Given the description of an element on the screen output the (x, y) to click on. 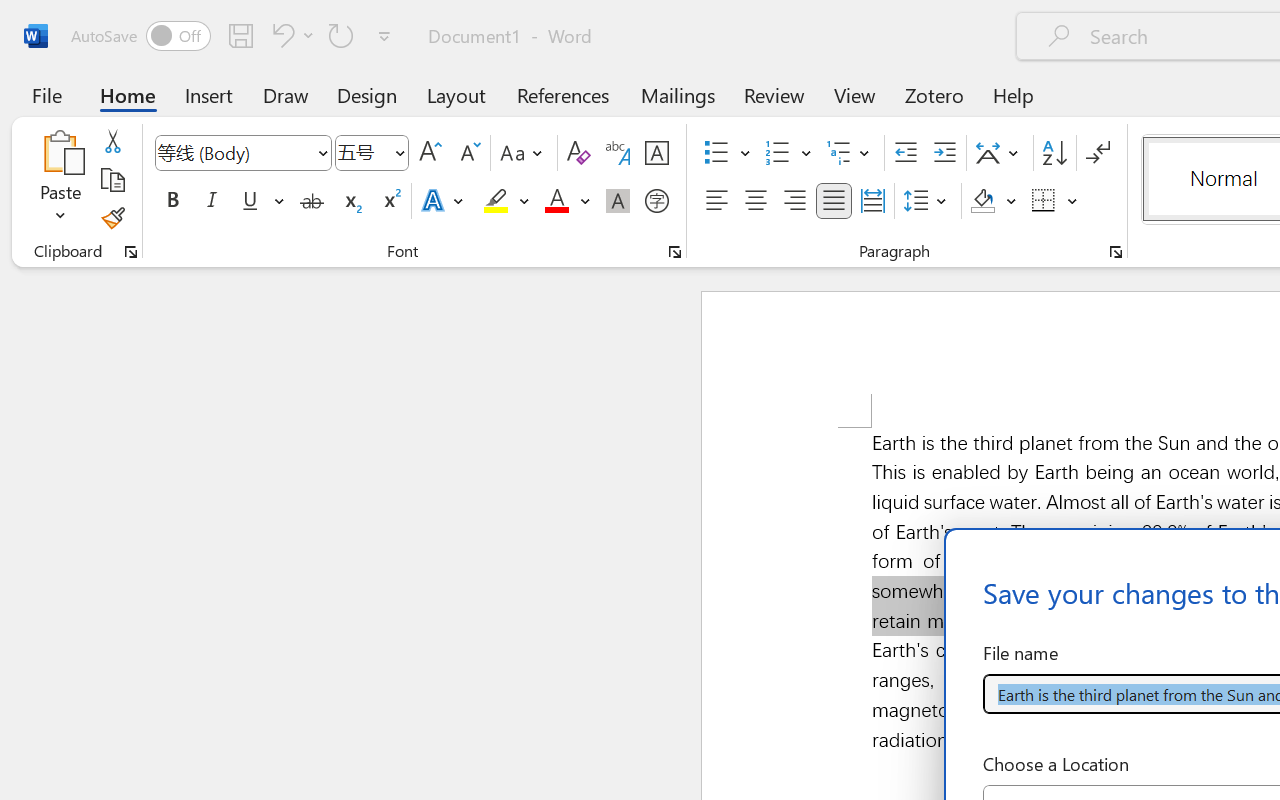
Phonetic Guide... (618, 153)
Align Left (716, 201)
Change Case (524, 153)
Bold (172, 201)
Shading RGB(0, 0, 0) (982, 201)
Enclose Characters... (656, 201)
Undo Paste Text Only (280, 35)
Grow Font (430, 153)
